Given the description of an element on the screen output the (x, y) to click on. 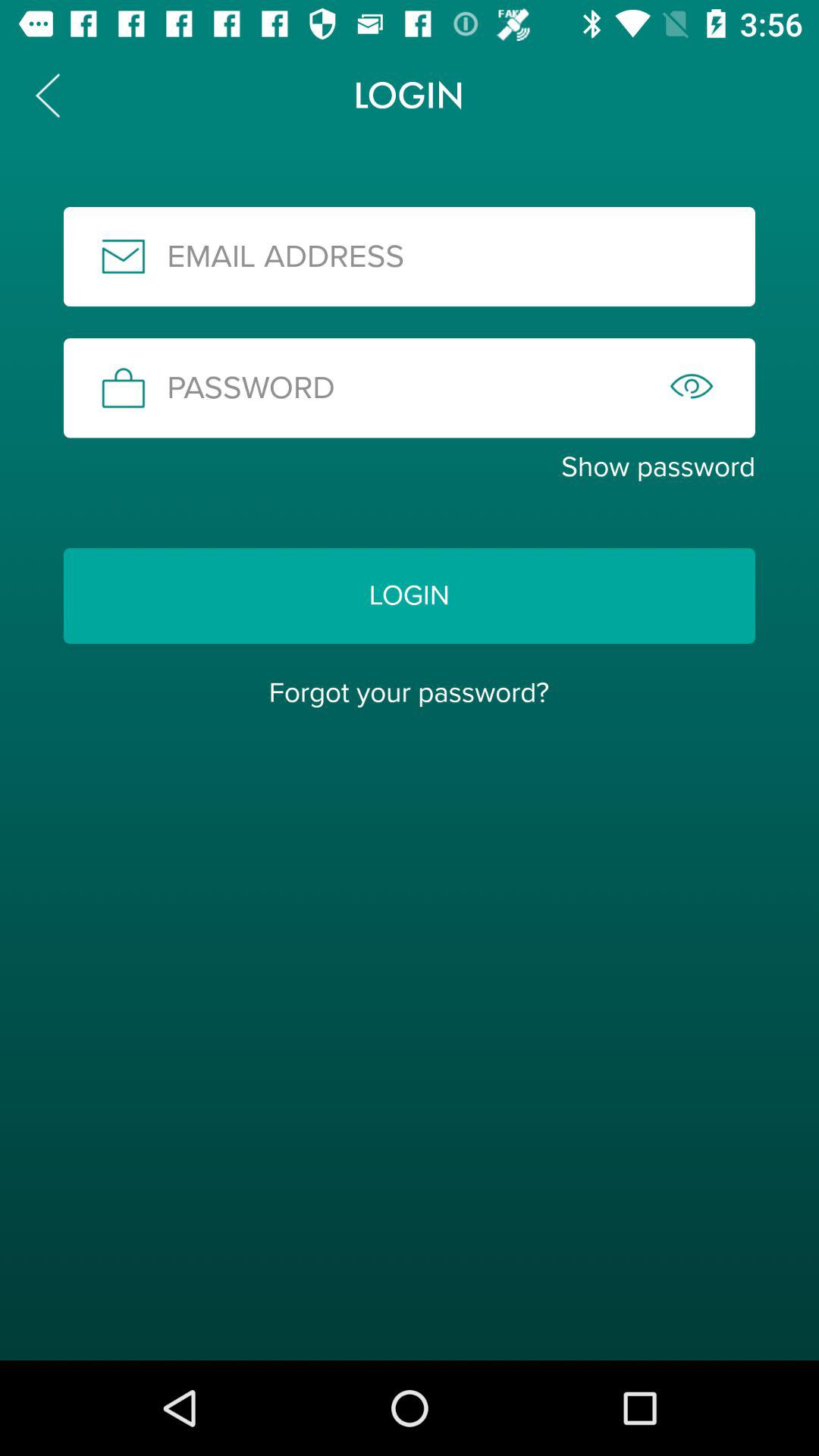
choose the icon above the show password (409, 387)
